Given the description of an element on the screen output the (x, y) to click on. 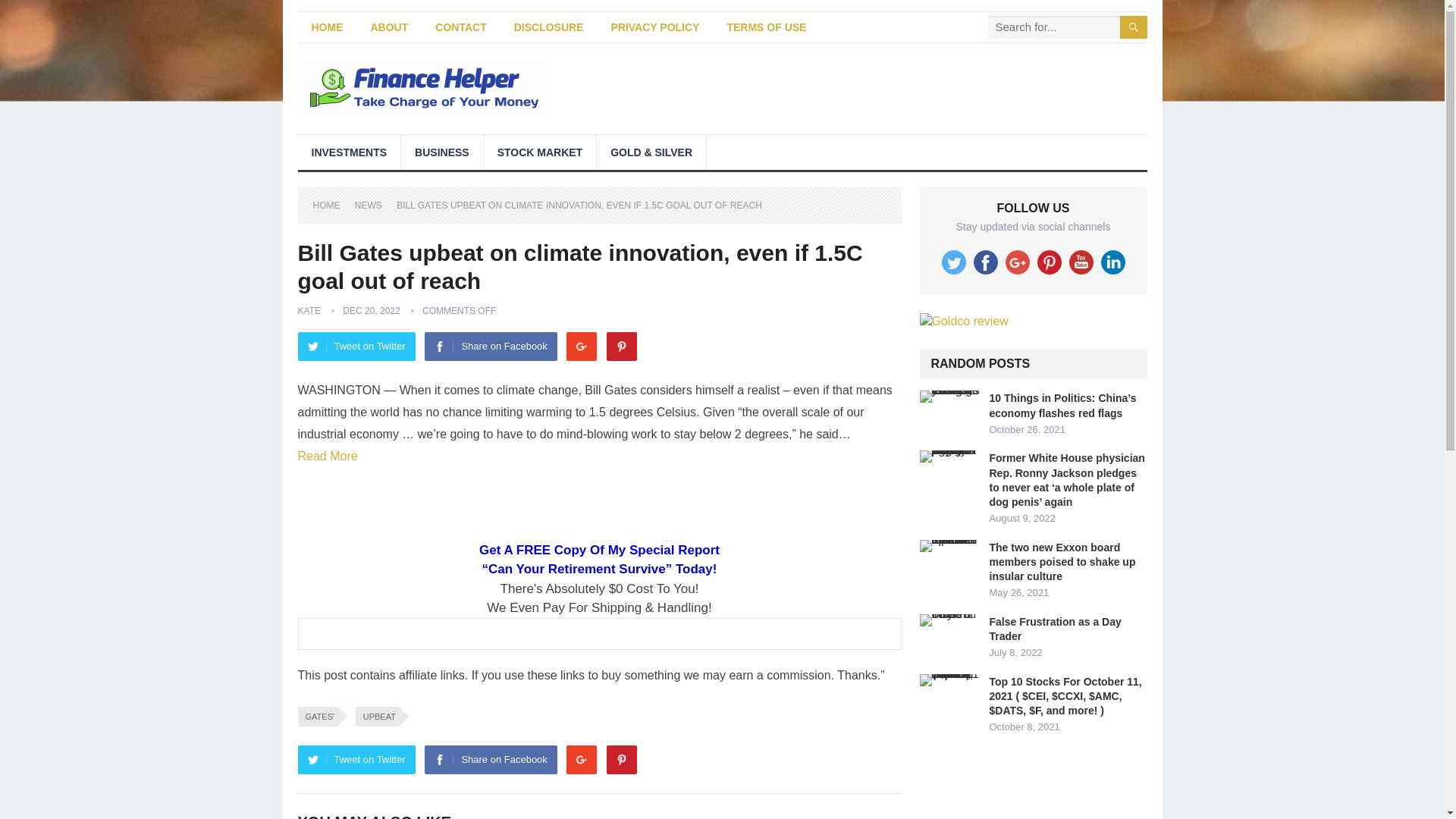
Pinterest (622, 346)
Pinterest (622, 759)
View all posts in News (374, 204)
PRIVACY POLICY (654, 27)
HOME (326, 27)
Share on Facebook (490, 346)
UPBEAT (376, 716)
INVESTMENTS (348, 152)
NEWS (374, 204)
Tweet on Twitter (355, 759)
